Given the description of an element on the screen output the (x, y) to click on. 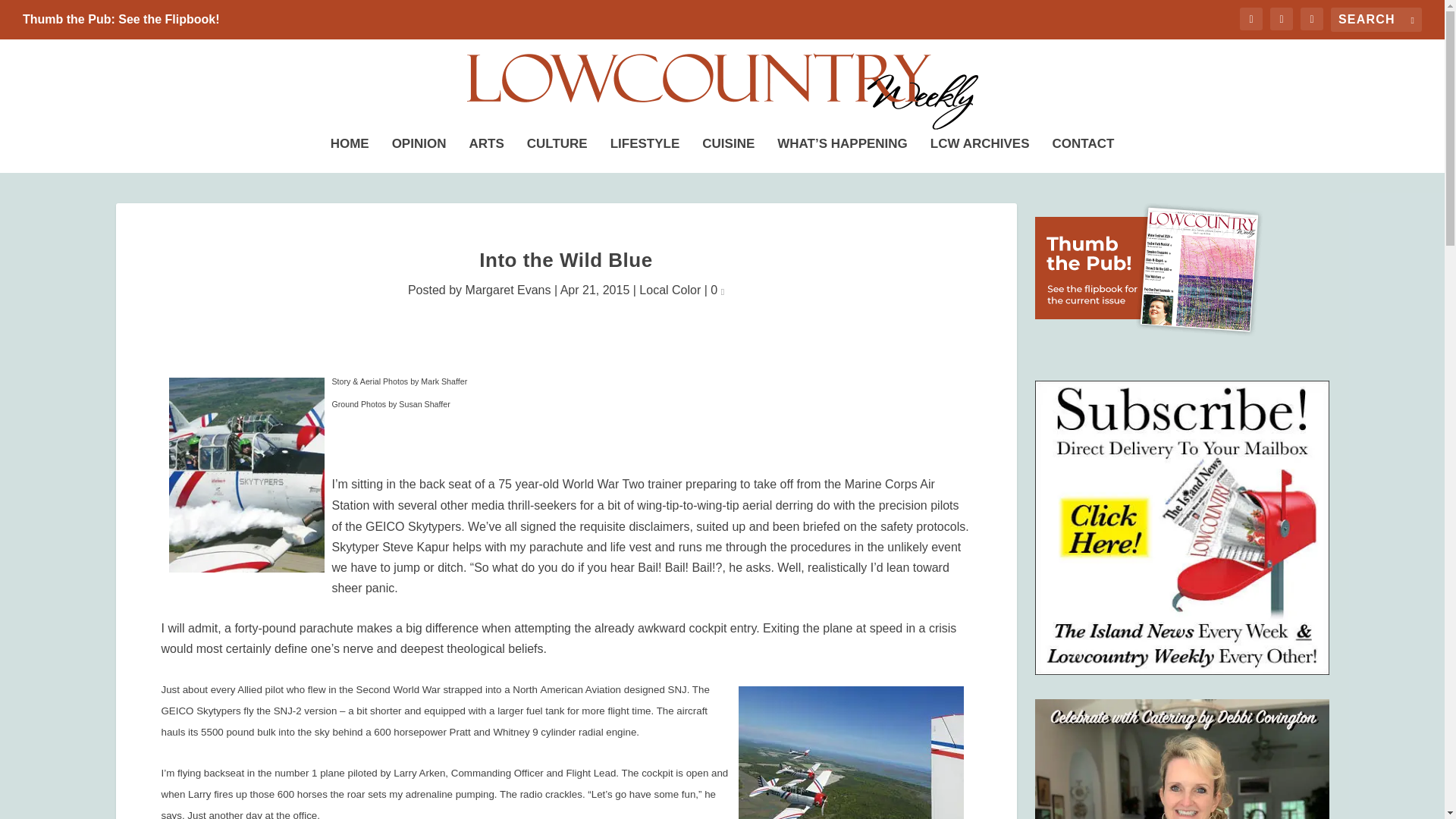
CONTACT (1083, 151)
LIFESTYLE (644, 151)
OPINION (418, 151)
Search for: (1376, 19)
CULTURE (557, 151)
Posts by Margaret Evans (508, 289)
LCW ARCHIVES (979, 151)
HOME (349, 151)
CUISINE (727, 151)
Thumb the Pub: See the Flipbook! (121, 19)
